Given the description of an element on the screen output the (x, y) to click on. 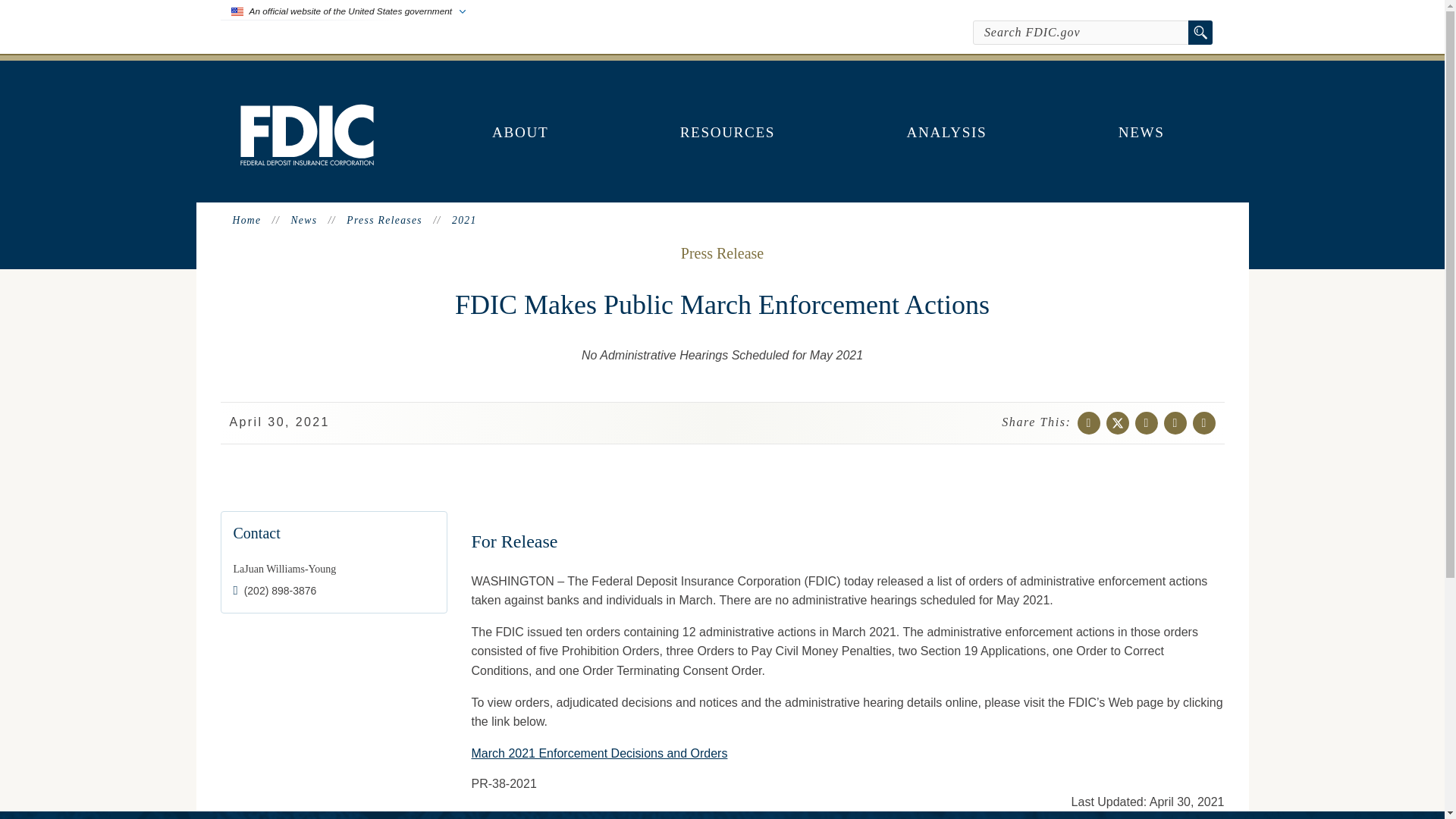
Search FDIC.gov (1080, 32)
Search FDIC.gov (1080, 32)
ABOUT (520, 131)
RESOURCES (727, 131)
Home (306, 161)
